Given the description of an element on the screen output the (x, y) to click on. 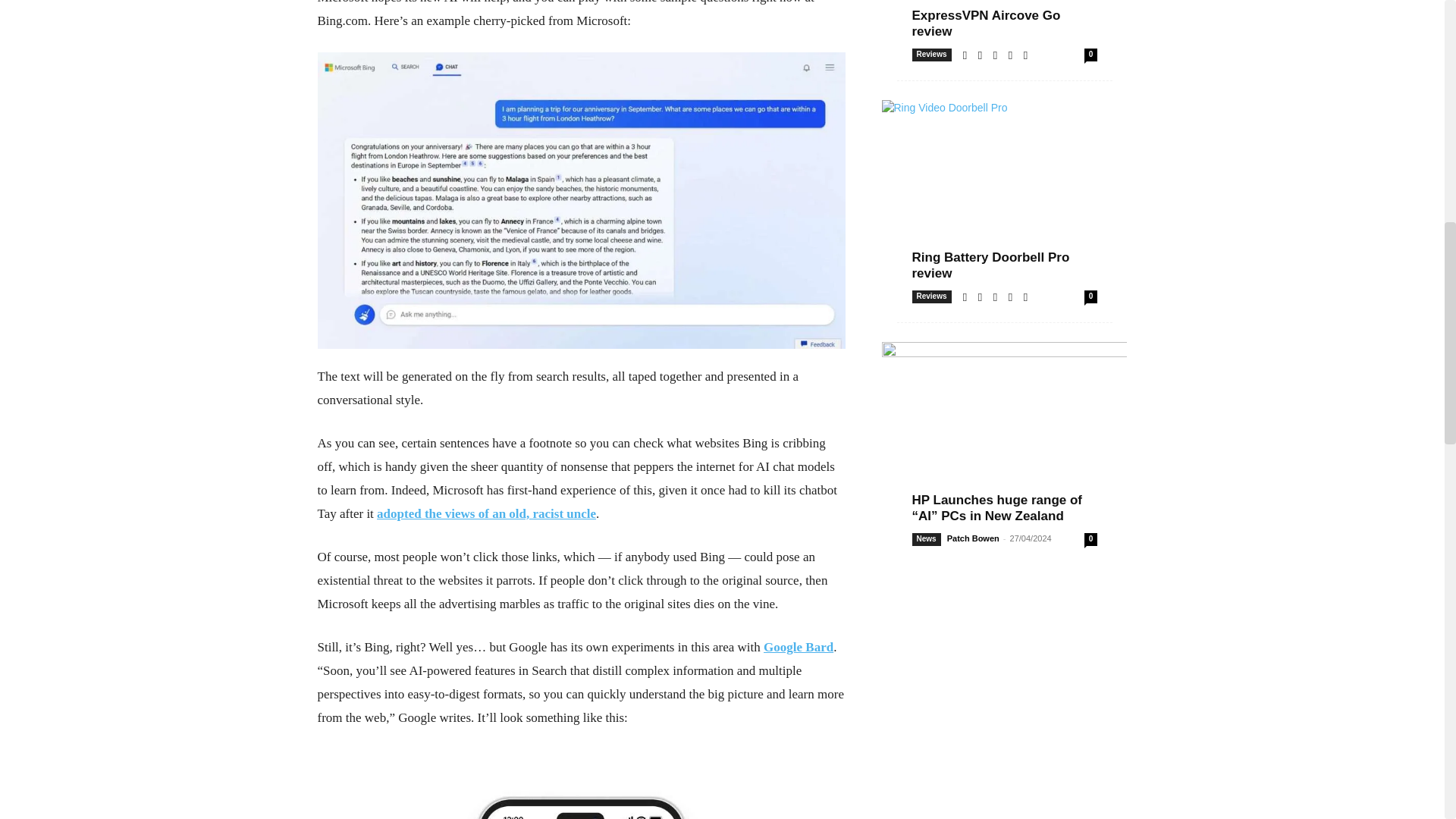
adopted the views of an old, racist uncle (486, 513)
Google Bard (797, 646)
